Given the description of an element on the screen output the (x, y) to click on. 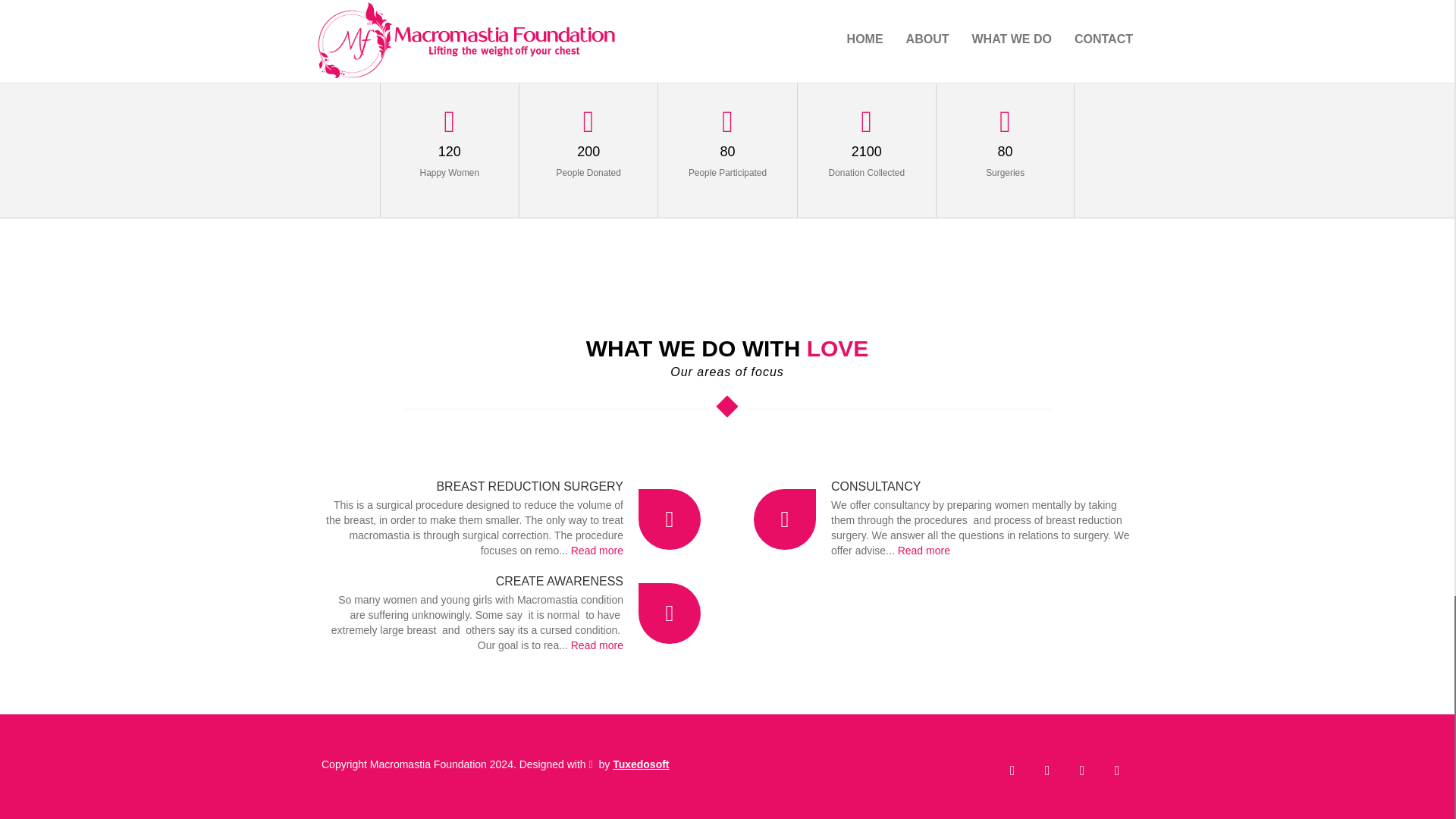
Read more (596, 645)
MORE INFO.. (783, 8)
Read more (924, 550)
Read more (596, 550)
Tuxedosoft (640, 764)
